Given the description of an element on the screen output the (x, y) to click on. 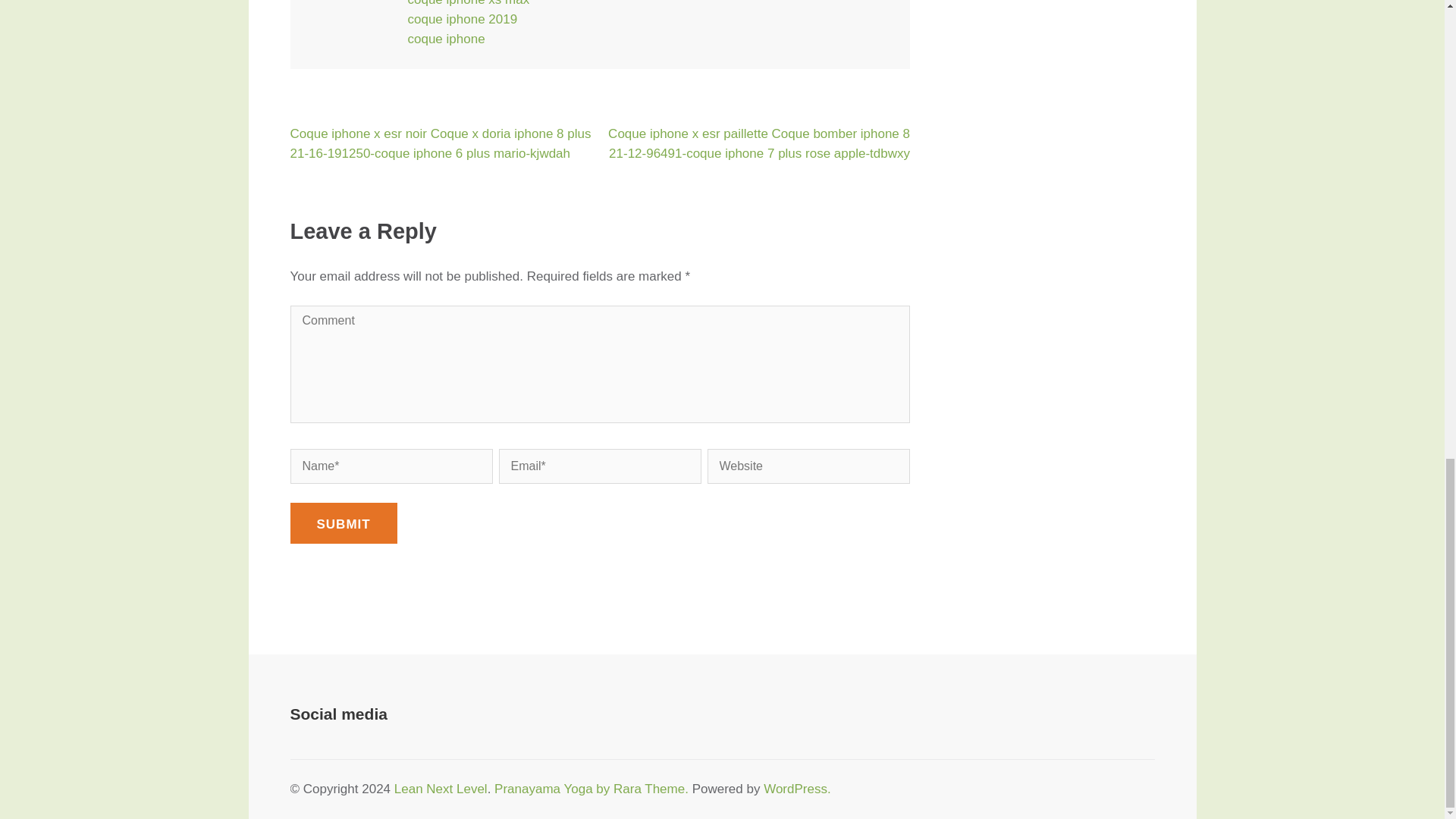
coque iphone 2019 (462, 19)
coque iphone (445, 38)
Submit (342, 522)
coque iphone xs max (468, 3)
